Given the description of an element on the screen output the (x, y) to click on. 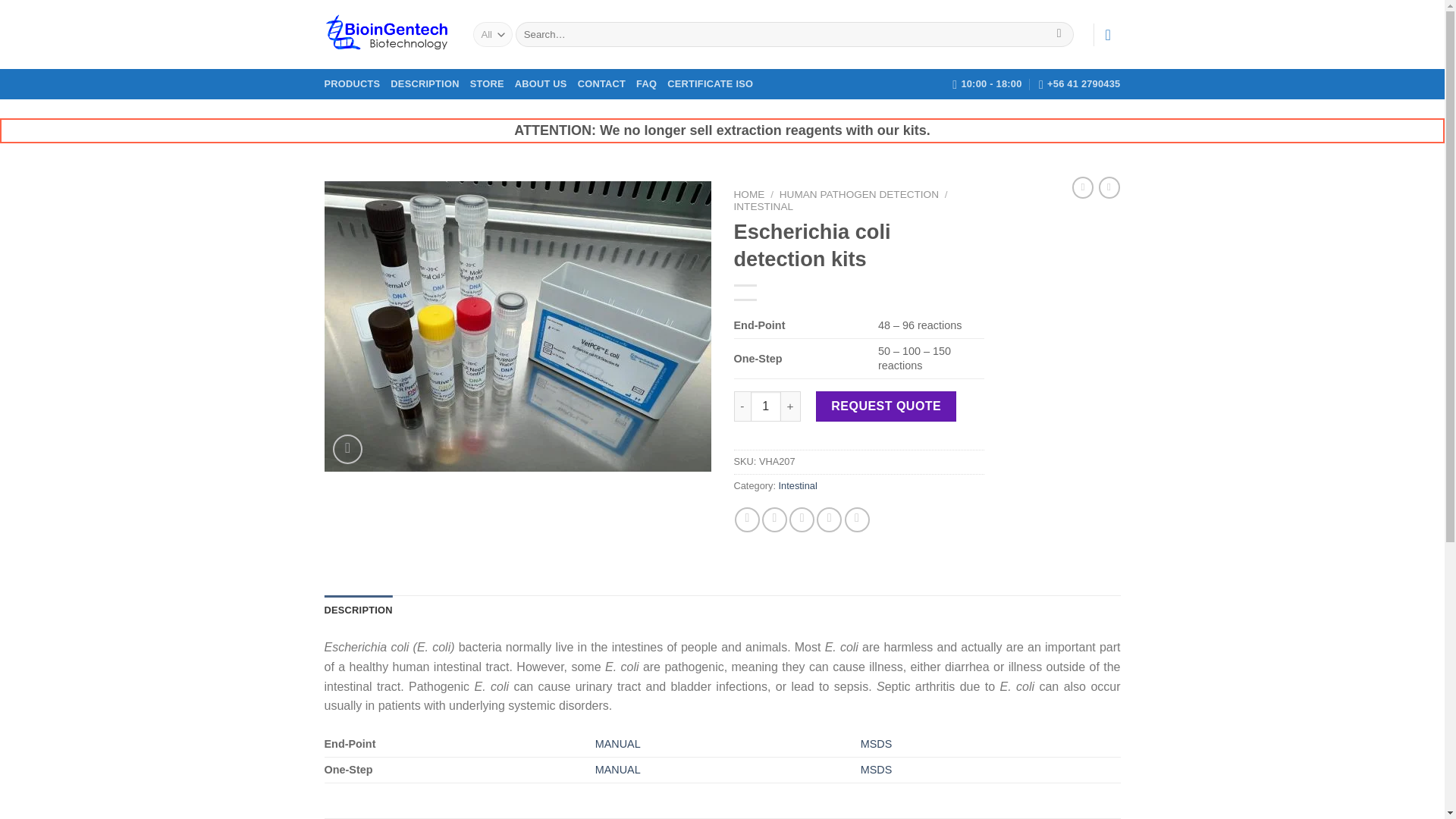
STORE (486, 83)
10:00 - 18:00 (987, 83)
CONTACT (602, 83)
Share on Twitter (774, 519)
DESCRIPTION (358, 610)
HOME (749, 194)
DESCRIPTION (424, 83)
CERTIFICATE ISO (709, 83)
Qty (765, 406)
1 (765, 406)
